Given the description of an element on the screen output the (x, y) to click on. 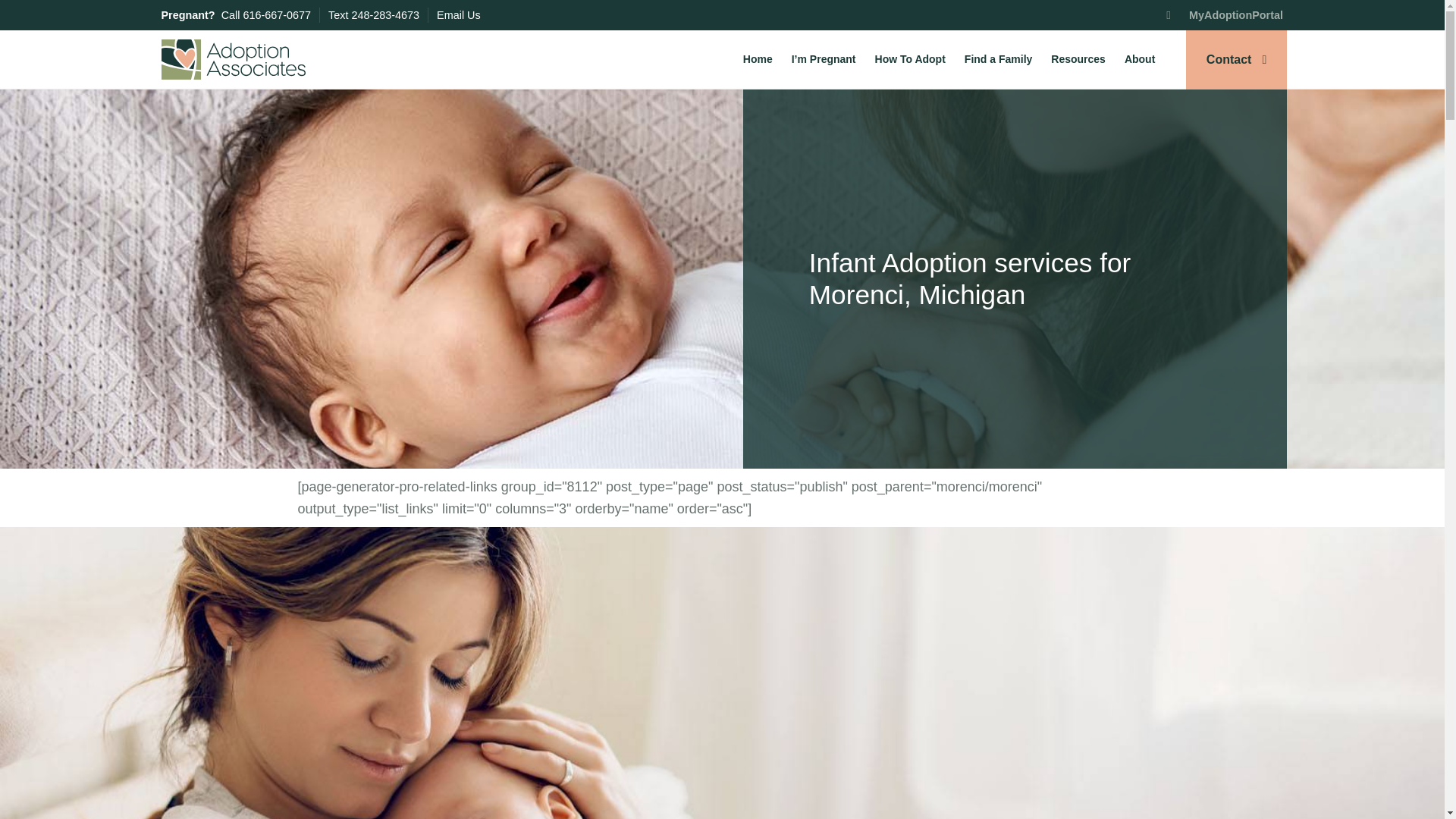
Home (757, 58)
Find a Family (997, 58)
About (1139, 58)
How To Adopt (909, 58)
Resources (1078, 58)
Call 616-667-0677 (266, 14)
Text 248-283-4673 (374, 14)
MyAdoptionPortal (1224, 14)
Email Us (458, 14)
